Given the description of an element on the screen output the (x, y) to click on. 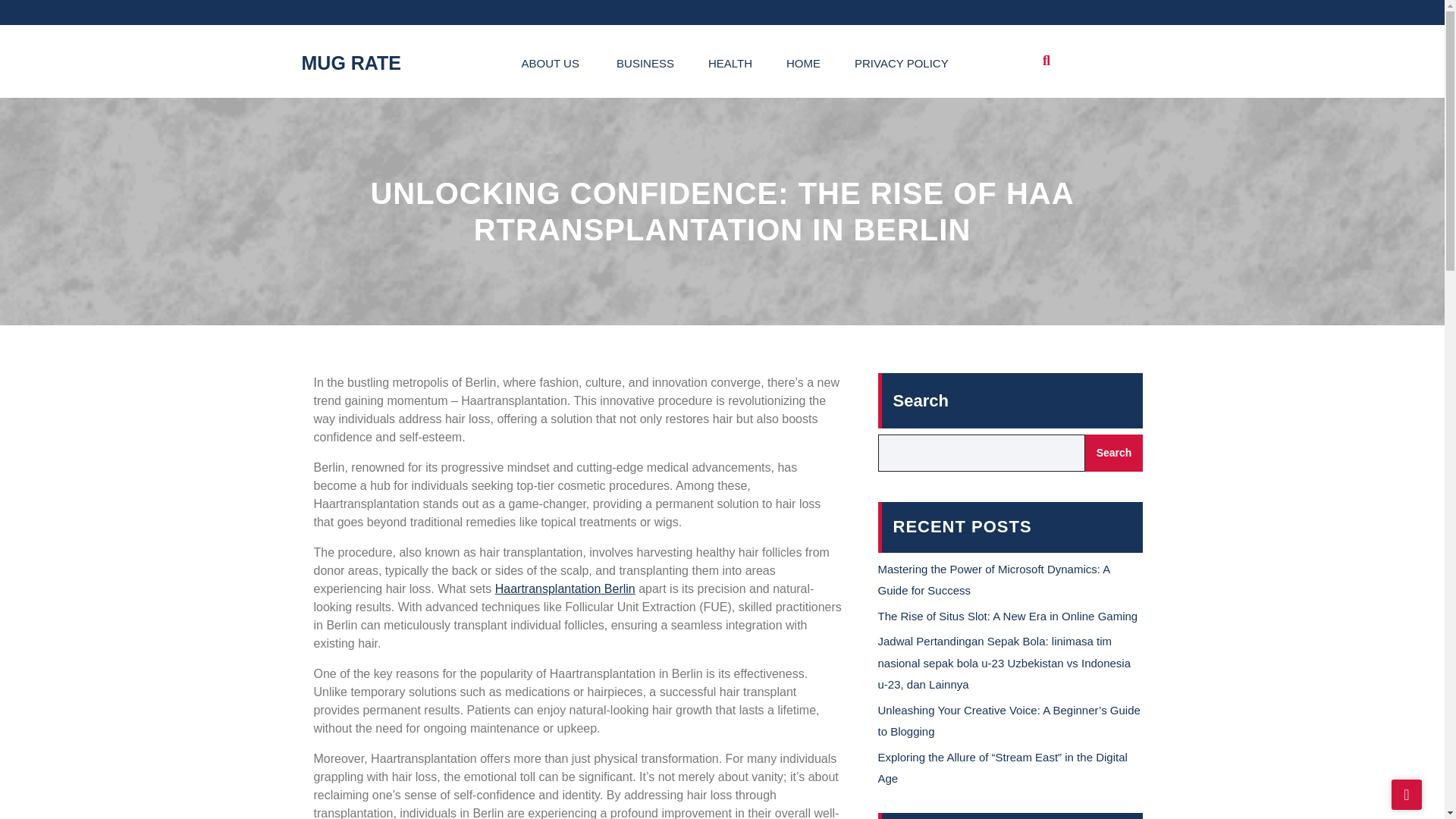
PRIVACY POLICY (899, 61)
BUSINESS (643, 61)
HEALTH (728, 61)
Mug Rate (351, 62)
Search (1113, 452)
Haartransplantation Berlin (564, 588)
ABOUT US  (549, 61)
MUG RATE (351, 62)
The Rise of Situs Slot: A New Era in Online Gaming (1007, 615)
